Given the description of an element on the screen output the (x, y) to click on. 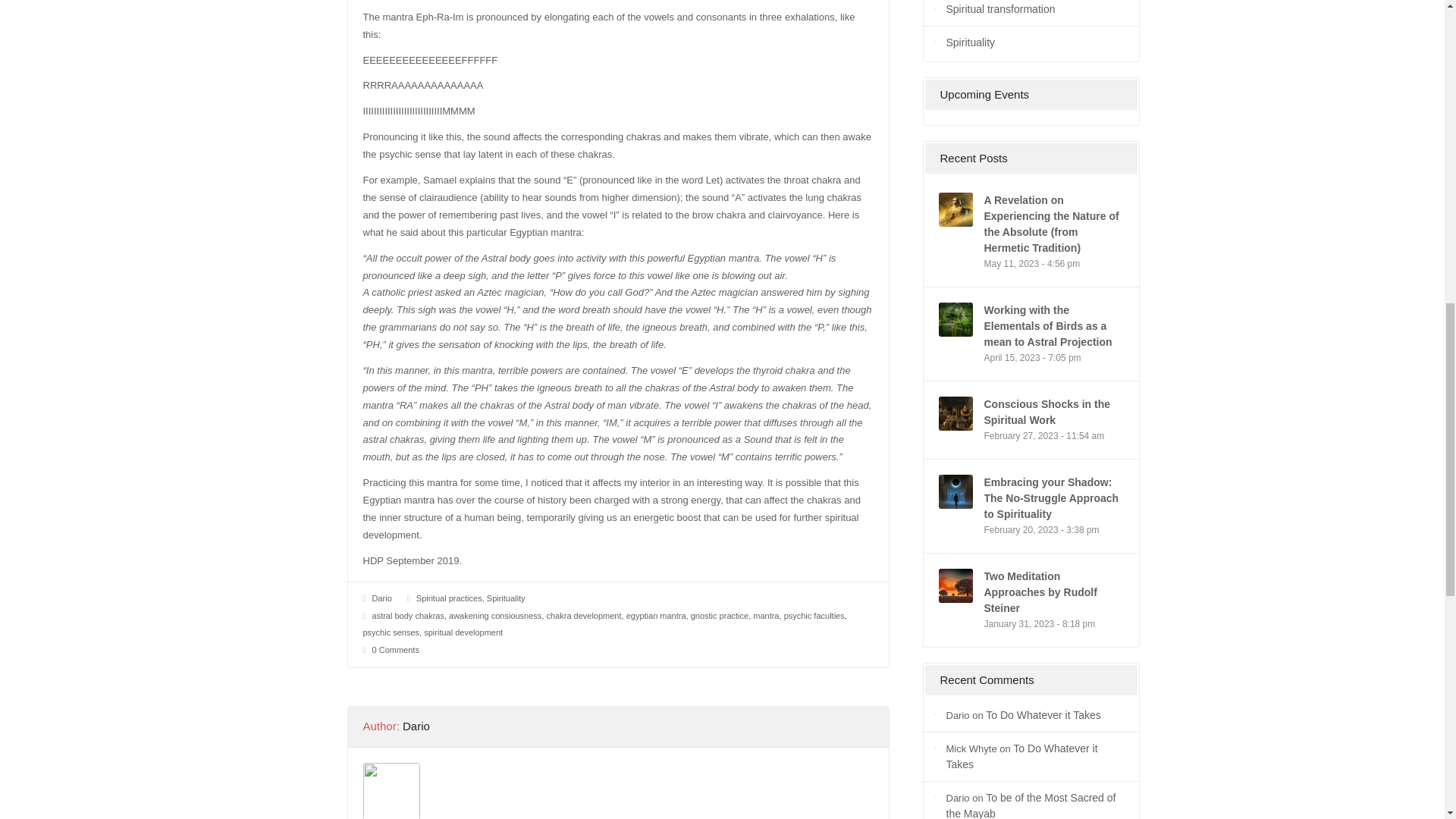
View all posts in Spiritual practices (448, 597)
View all posts in Spirituality (505, 597)
